Given the description of an element on the screen output the (x, y) to click on. 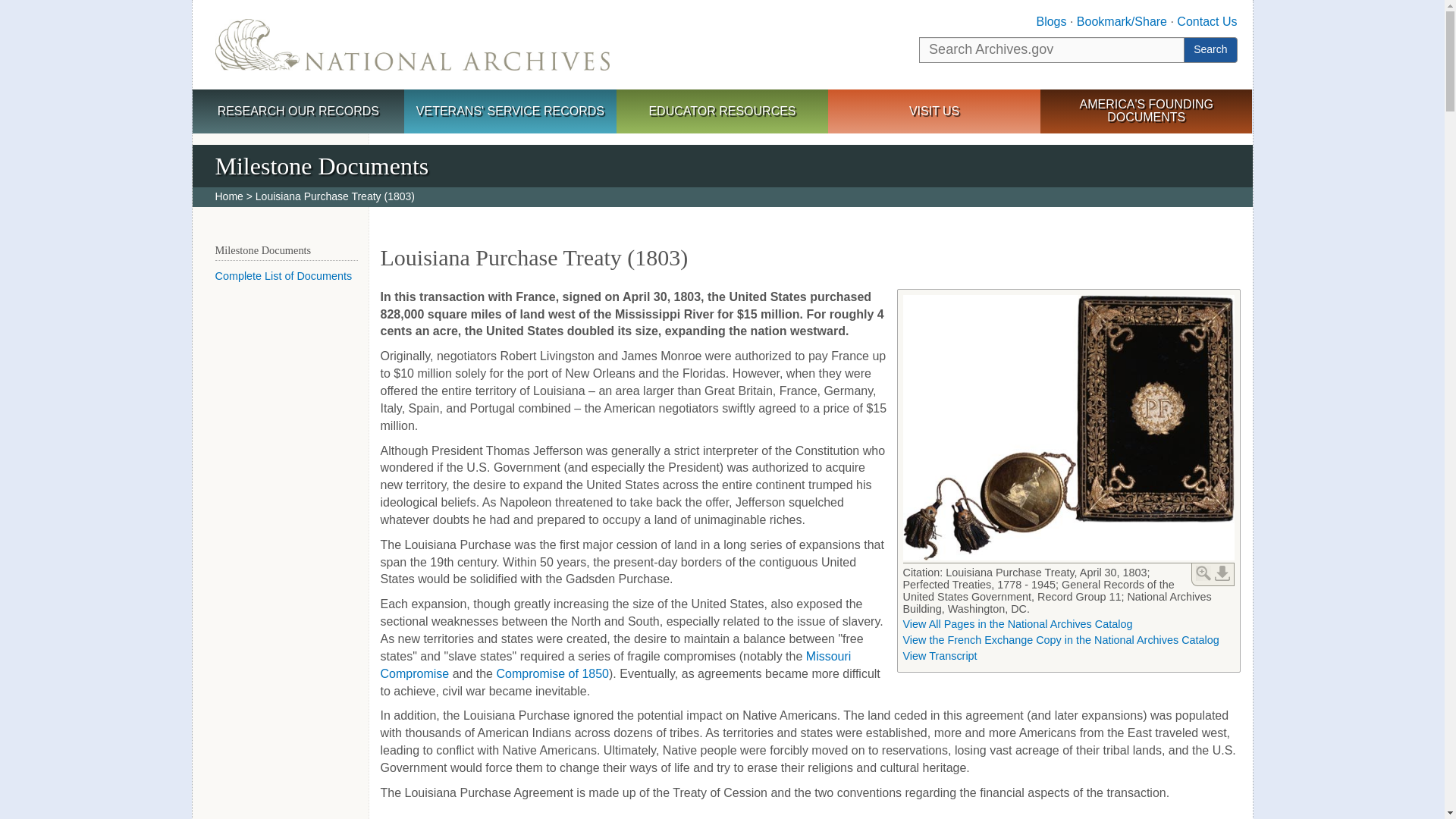
VISIT US (934, 111)
Search Archives.gov (1051, 49)
EDUCATOR RESOURCES (721, 111)
VETERANS' SERVICE RECORDS (509, 111)
AMERICA'S FOUNDING DOCUMENTS (1146, 111)
Blogs (1050, 21)
View All Pages in the National Archives Catalog (1017, 623)
Contact Us (1206, 21)
